Given the description of an element on the screen output the (x, y) to click on. 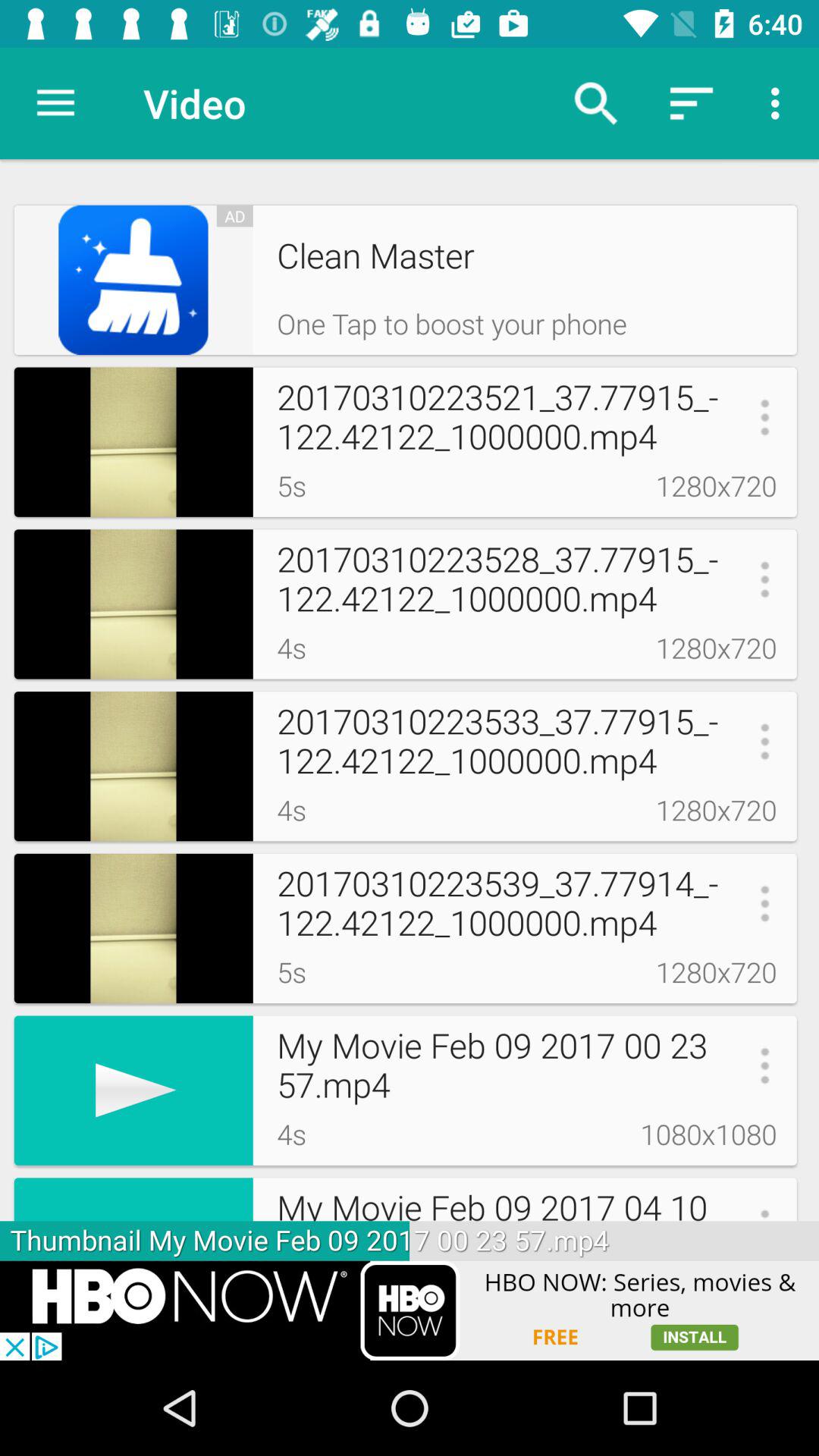
open advertisement (409, 1310)
